Given the description of an element on the screen output the (x, y) to click on. 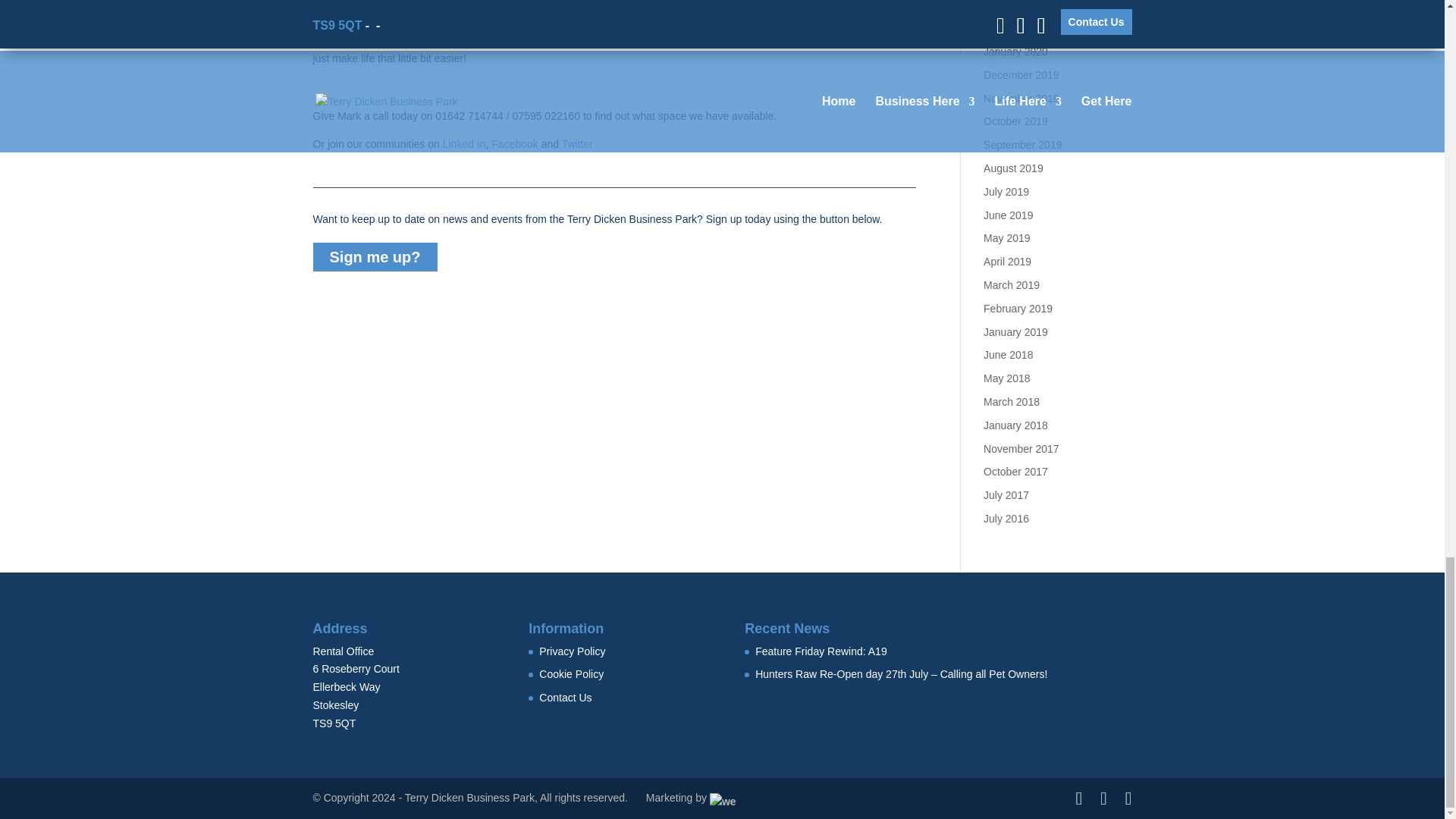
Twitter (577, 143)
Facebook (514, 143)
Sign me up? (374, 256)
Linked In (464, 143)
